Given the description of an element on the screen output the (x, y) to click on. 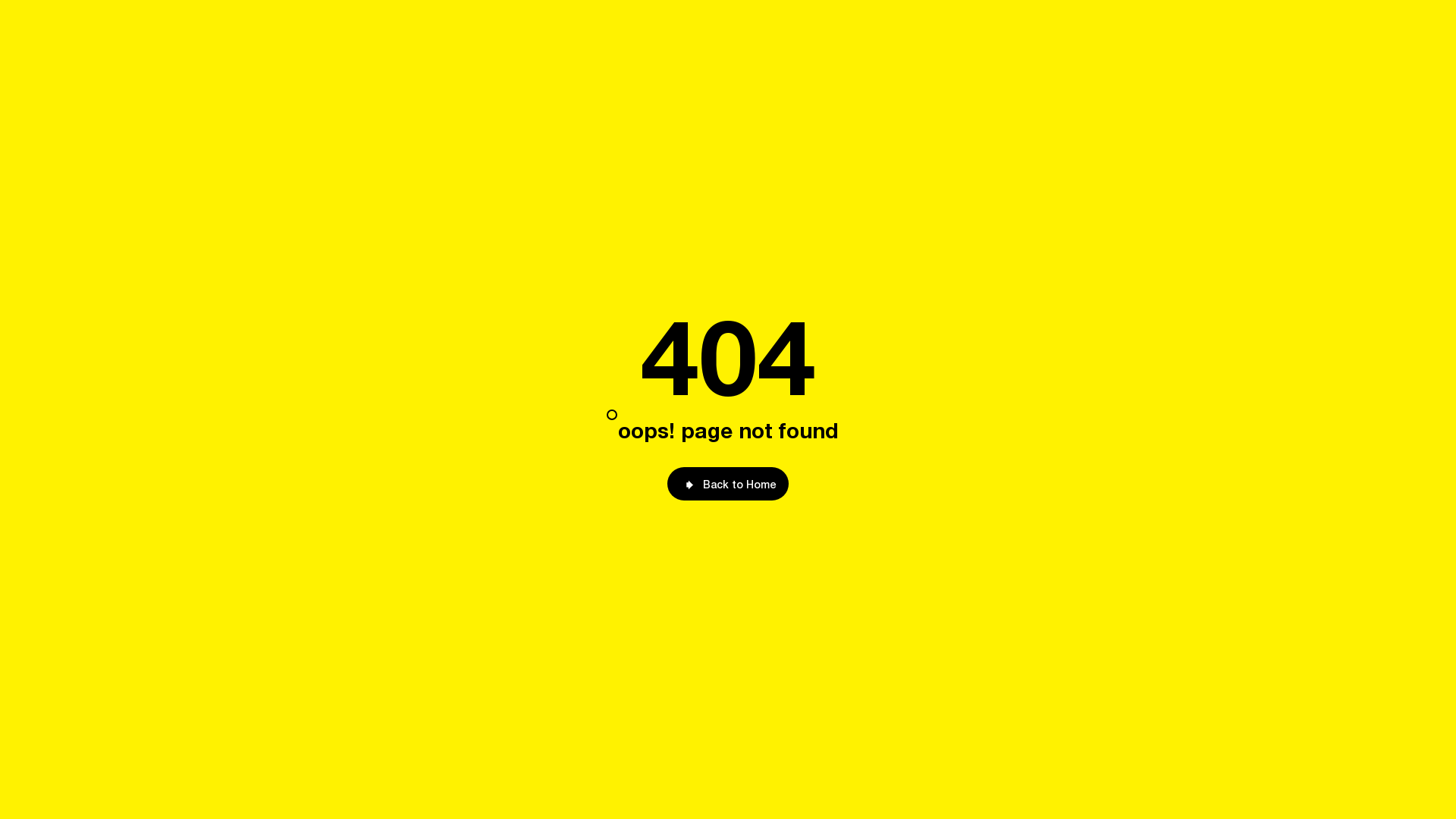
Skip to main content Element type: text (606, 409)
Back to Home Element type: text (727, 483)
